Given the description of an element on the screen output the (x, y) to click on. 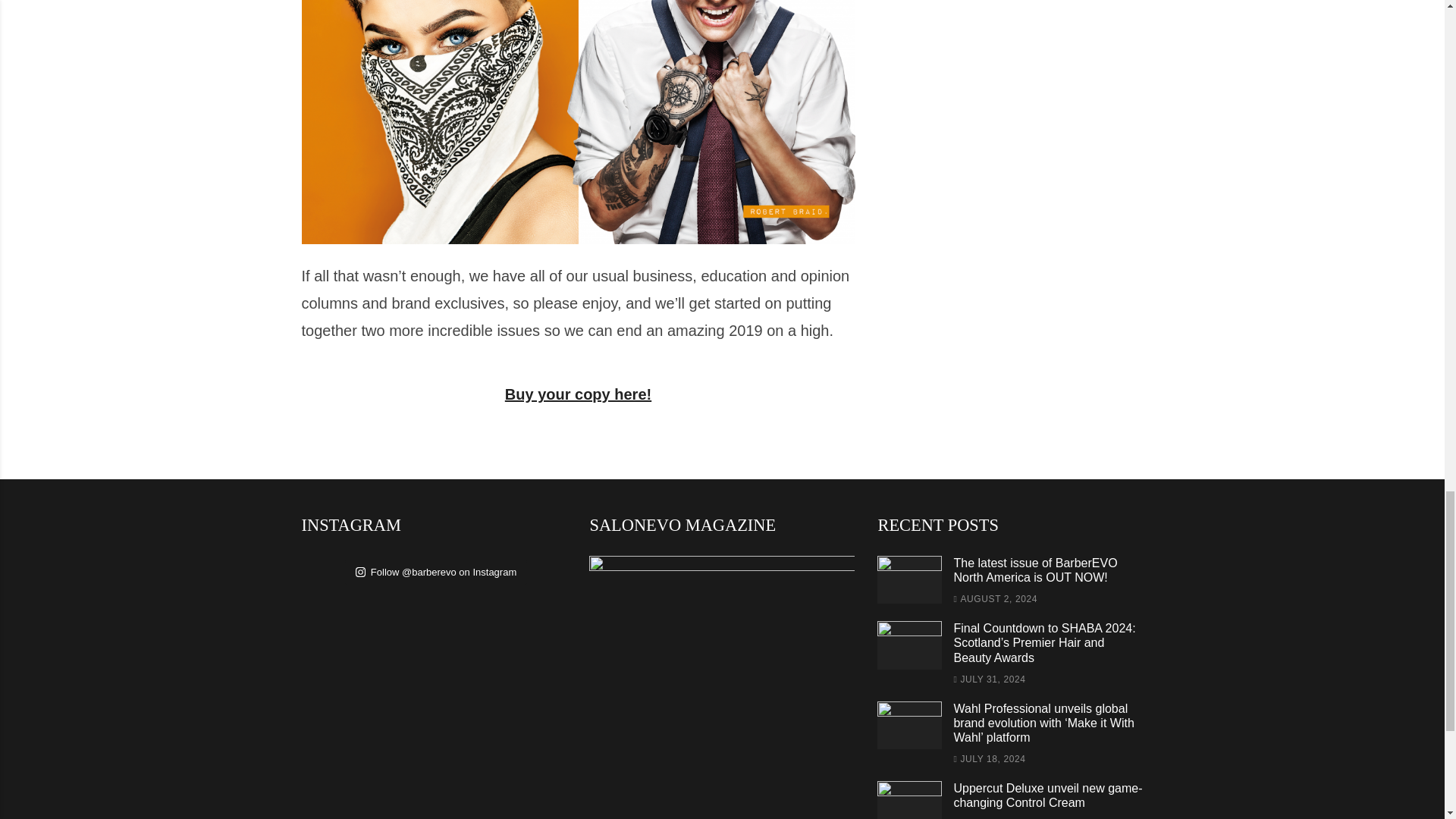
The latest issue of BarberEVO North America is OUT NOW! (1034, 569)
SalonEVO Magazine (721, 687)
The latest issue of BarberEVO North America is OUT NOW! (909, 579)
Buy your copy here! (577, 393)
